Given the description of an element on the screen output the (x, y) to click on. 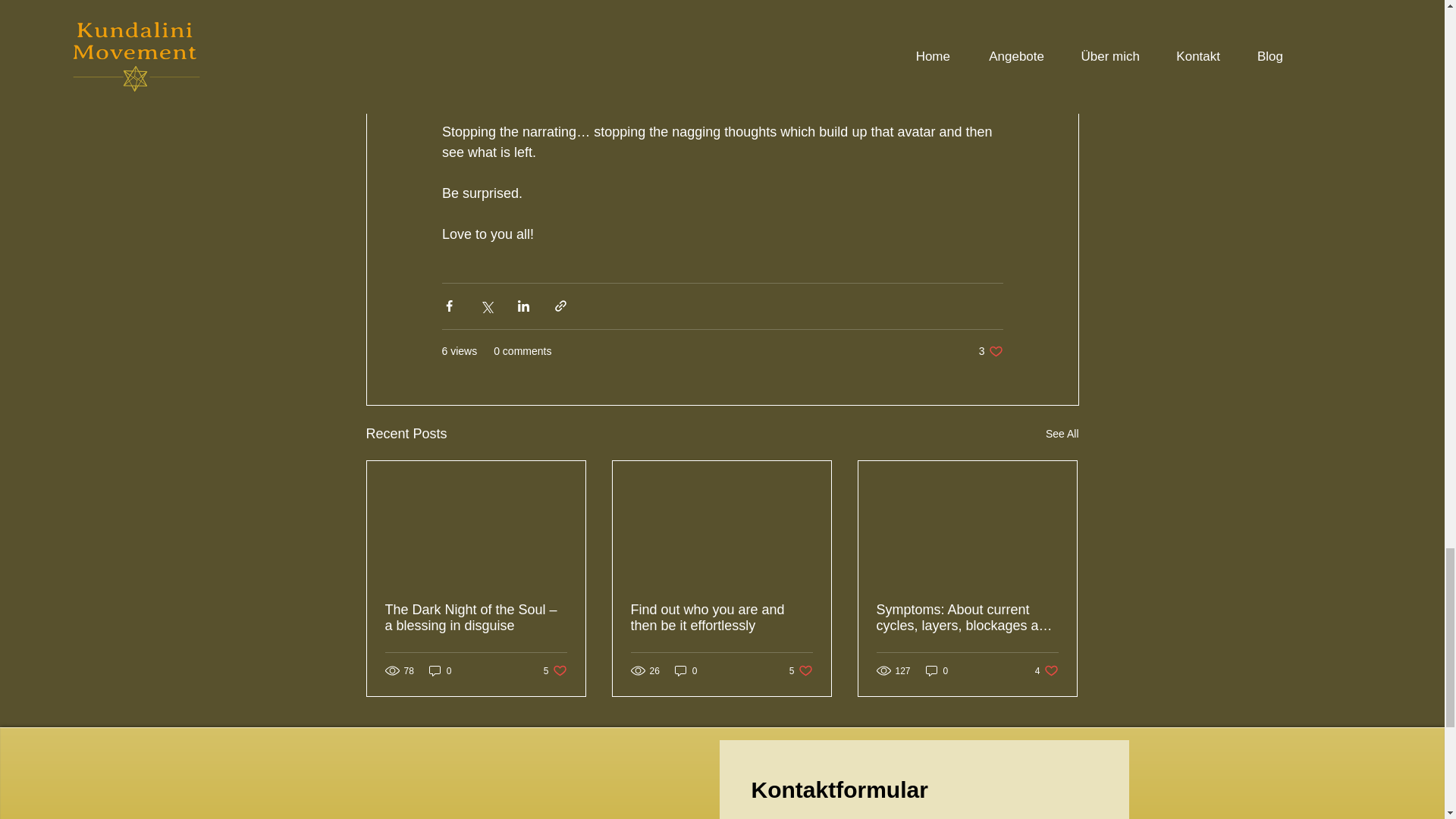
See All (1046, 670)
0 (1061, 434)
0 (440, 670)
0 (685, 670)
Find out who you are and then be it effortlessly (555, 670)
